Given the description of an element on the screen output the (x, y) to click on. 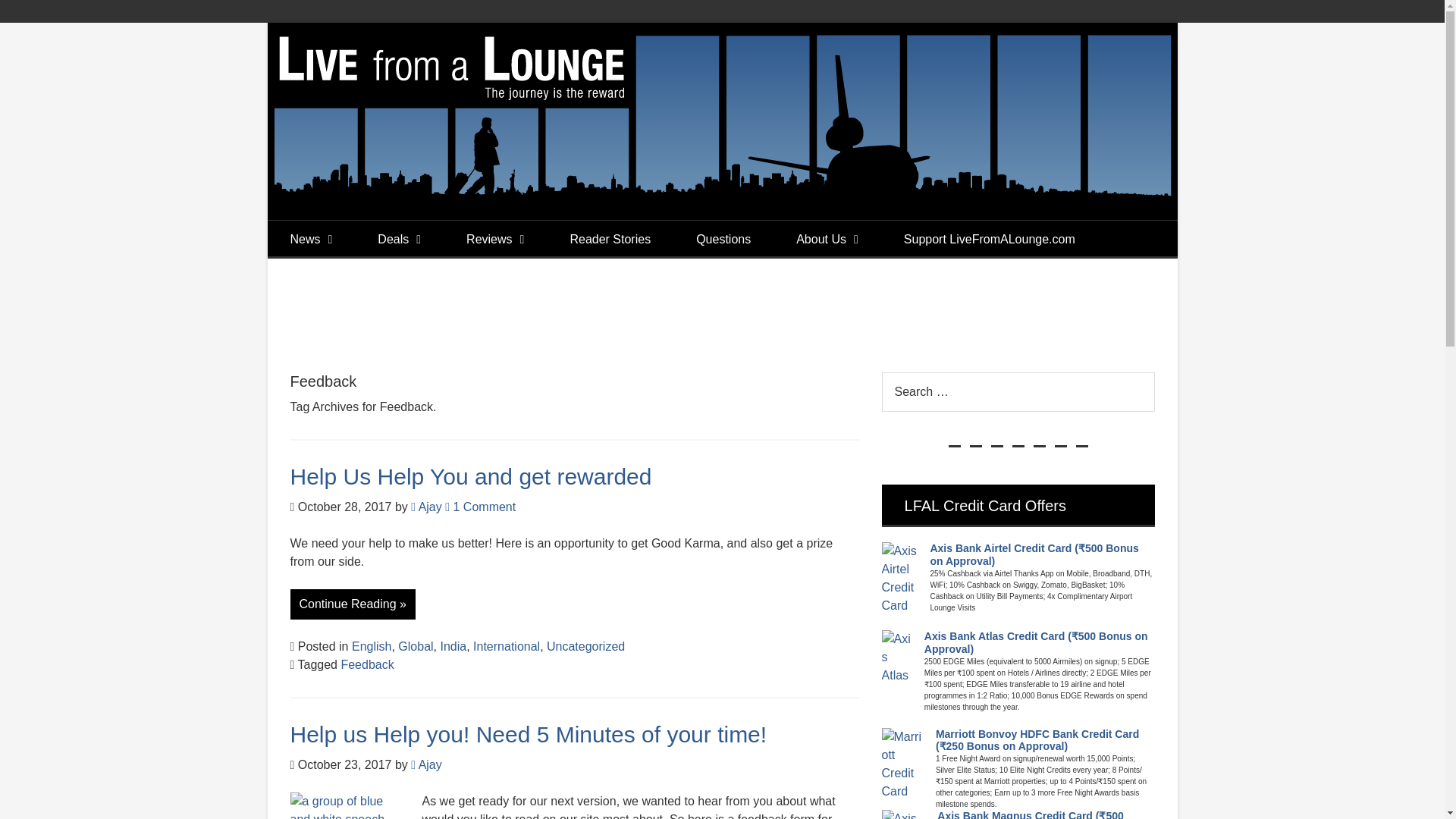
Feedback (366, 664)
1 Comment (480, 506)
Deals (399, 239)
Reviews (495, 239)
About Us (826, 239)
English (371, 645)
News (310, 239)
Reader Stories (609, 239)
Uncategorized (585, 645)
Ajay (426, 506)
Help Us Help You and get rewarded (469, 476)
Questions (722, 239)
Help us Help you! Need 5 Minutes of your time! (528, 733)
Ajay (426, 764)
